Given the description of an element on the screen output the (x, y) to click on. 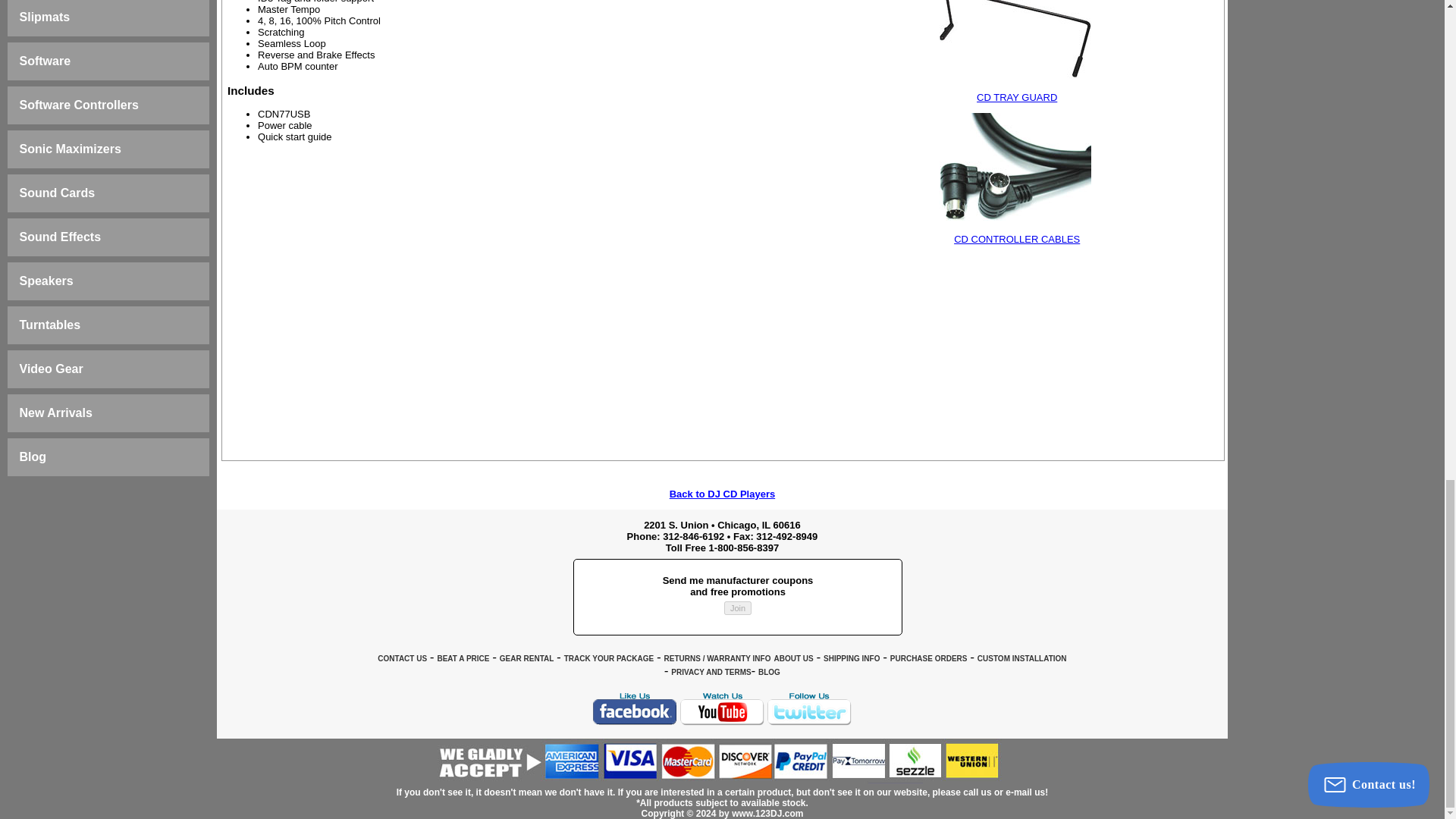
Turntables (50, 324)
Blog (33, 456)
Slipmats (44, 16)
Sound Cards (58, 192)
Sonic Maximizers (70, 148)
Video Gear (51, 368)
Software (45, 60)
Sound Effects (60, 236)
Software Controllers (79, 104)
Speakers (47, 280)
Join (737, 608)
New Arrivals (56, 412)
